Given the description of an element on the screen output the (x, y) to click on. 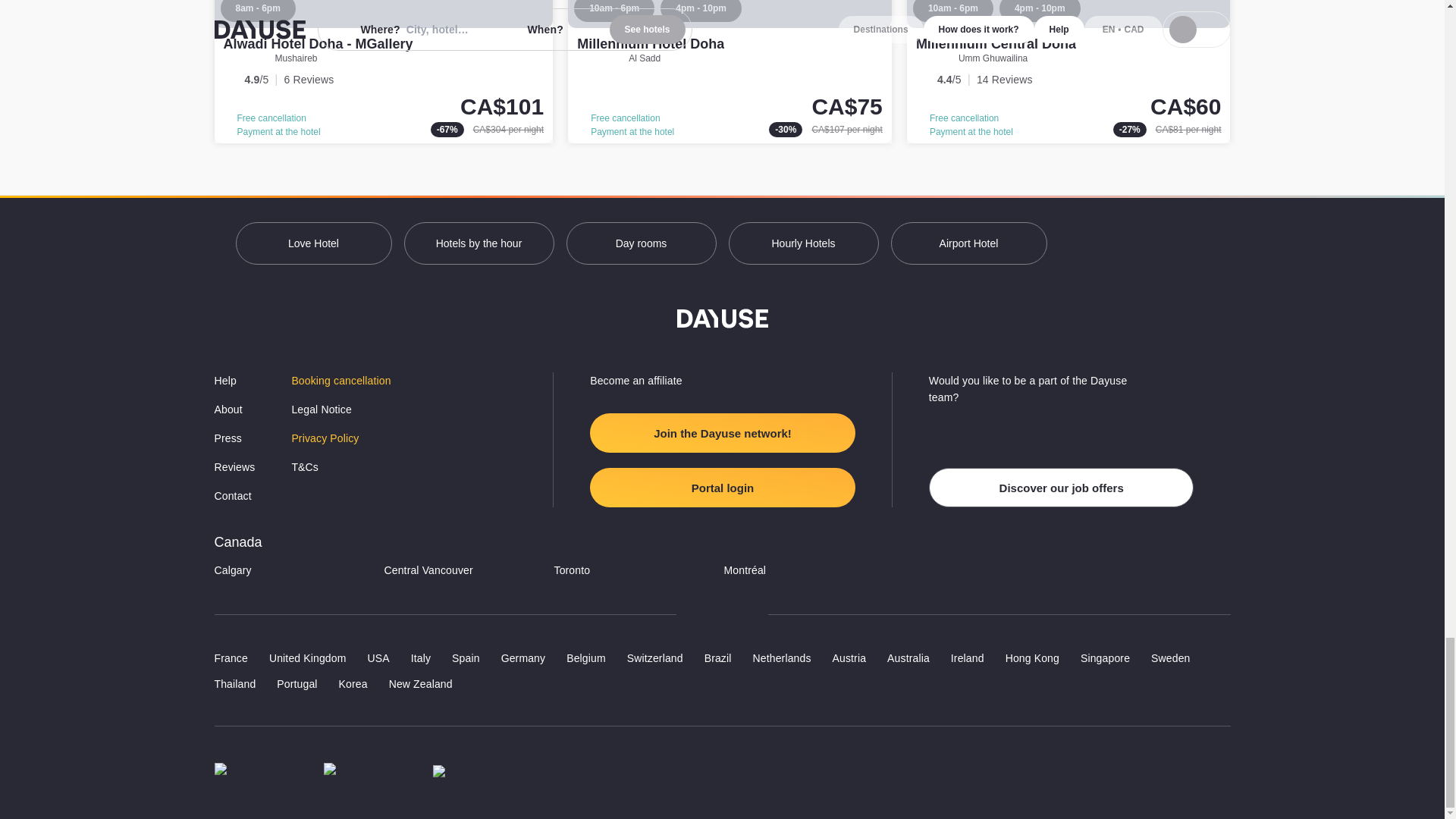
Millennium Hotel Doha (649, 43)
Millennium Central Doha (1068, 71)
Alwadi Hotel Doha - MGallery (383, 71)
Millennium Central Doha (995, 43)
Millennium Hotel Doha (729, 71)
Alwadi Hotel Doha - MGallery (317, 43)
